Given the description of an element on the screen output the (x, y) to click on. 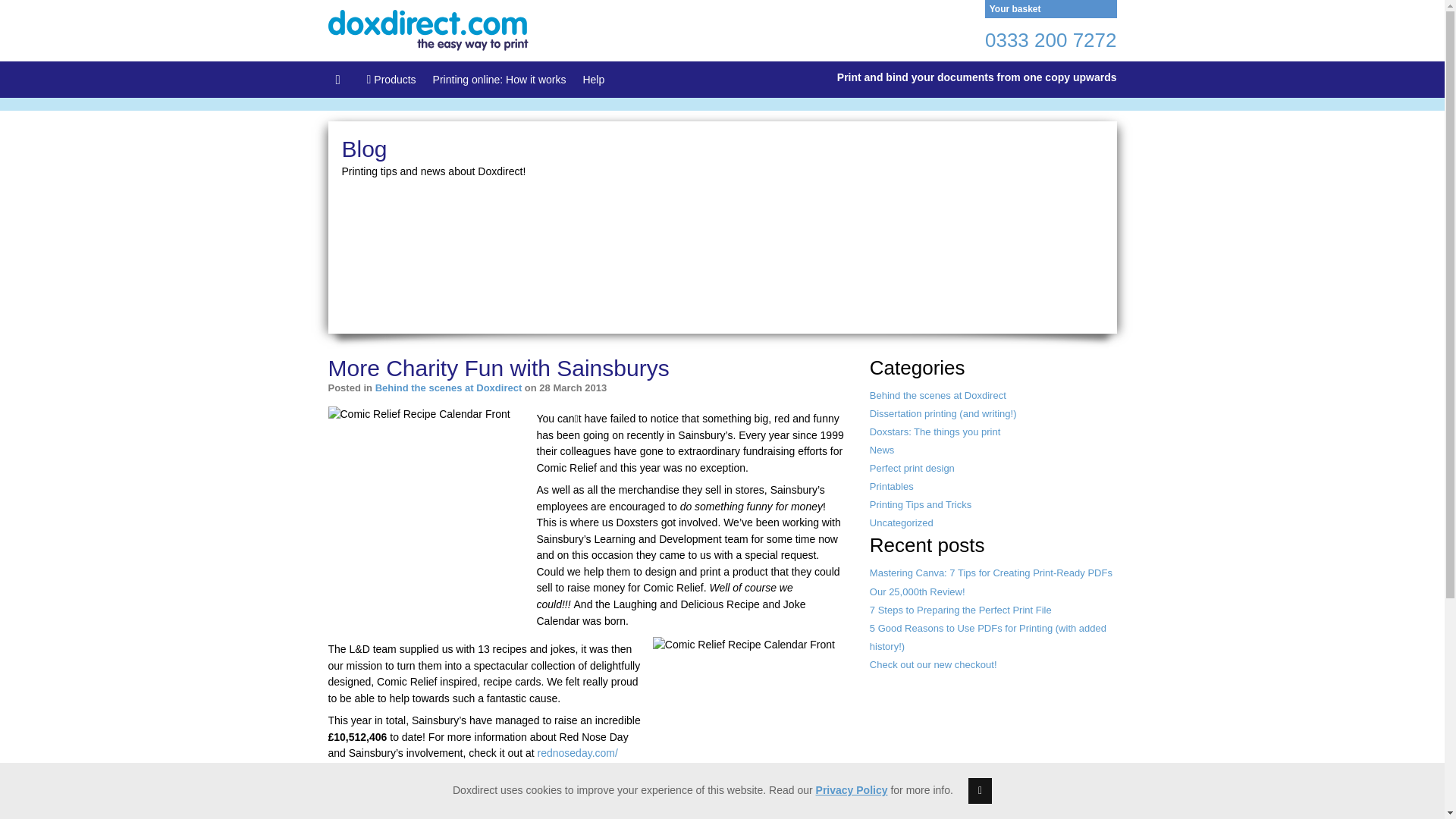
Doxstars: The things you print (934, 431)
Check out our new checkout! (933, 664)
home (427, 30)
Printing online: How it works (499, 79)
Products (391, 79)
Behind the scenes at Doxdirect (448, 387)
Printing Tips and Tricks (920, 504)
Home (341, 79)
Printables (891, 486)
Our 25,000th Review! (917, 591)
